Given the description of an element on the screen output the (x, y) to click on. 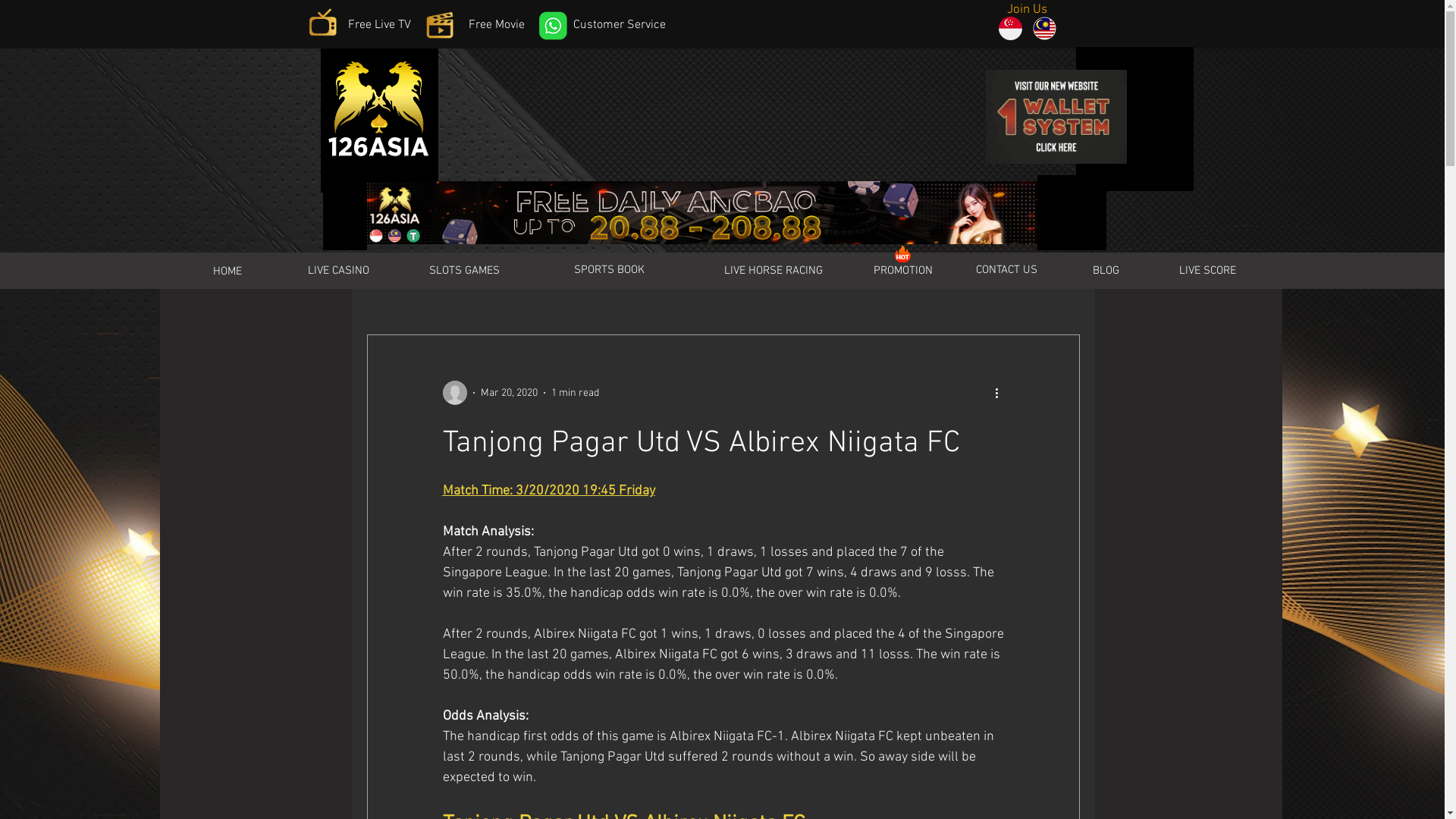
Free Live TV Element type: text (378, 25)
LIVE HORSE RACING Element type: text (772, 270)
SLOTS GAMES Element type: text (464, 270)
SPORTS BOOK Element type: text (608, 270)
CONTACT US Element type: text (1006, 270)
Customer Service Element type: text (619, 25)
movie-1-GIF.gif Element type: hover (439, 24)
HOME Element type: text (226, 271)
LIVE SCORE Element type: text (1207, 270)
PROMOTION Element type: text (902, 270)
BLOG Element type: text (1104, 270)
LIVE CASINO Element type: text (337, 270)
Free Movie Element type: text (497, 25)
